Given the description of an element on the screen output the (x, y) to click on. 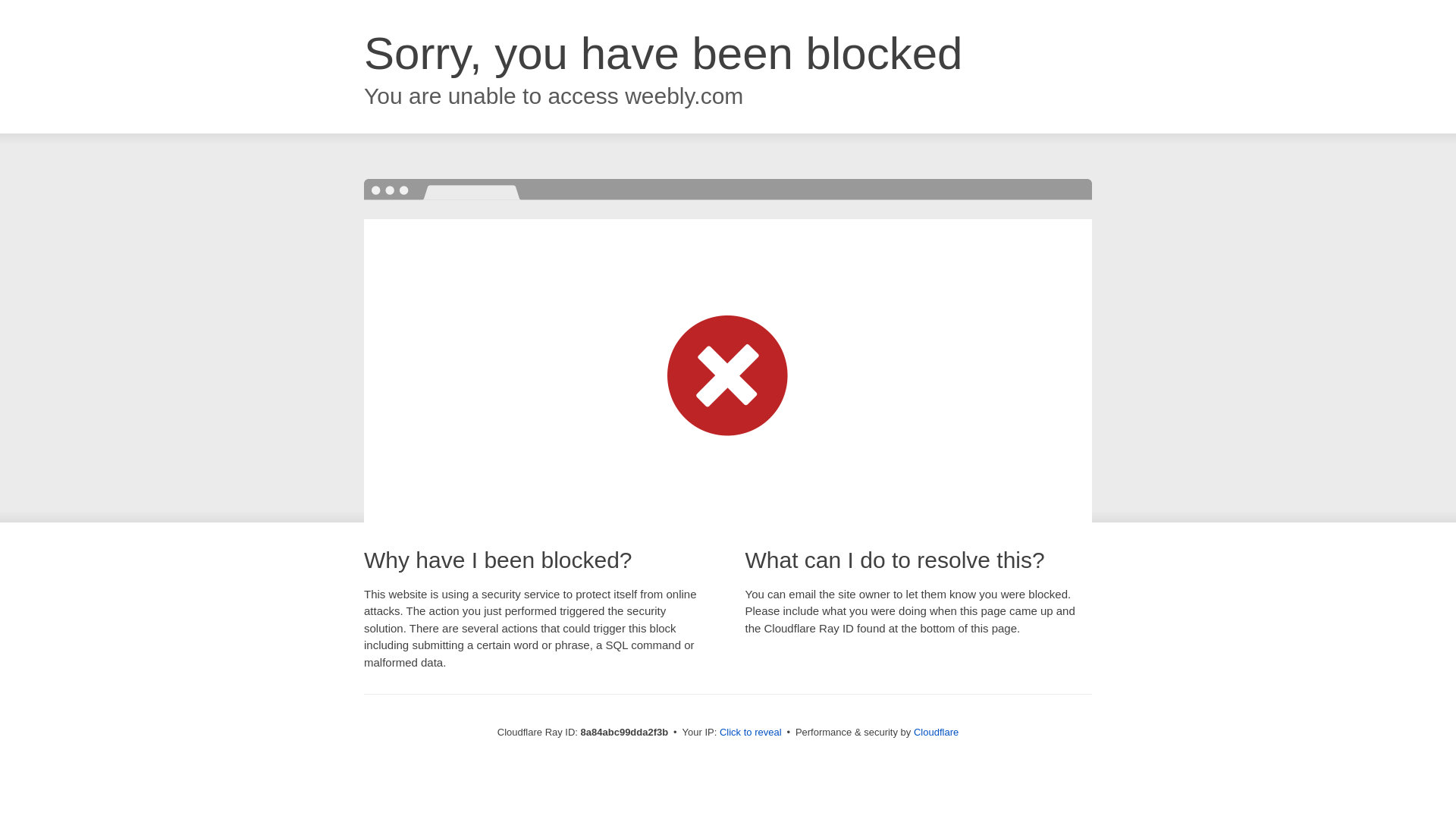
Cloudflare (936, 731)
Click to reveal (750, 732)
